Given the description of an element on the screen output the (x, y) to click on. 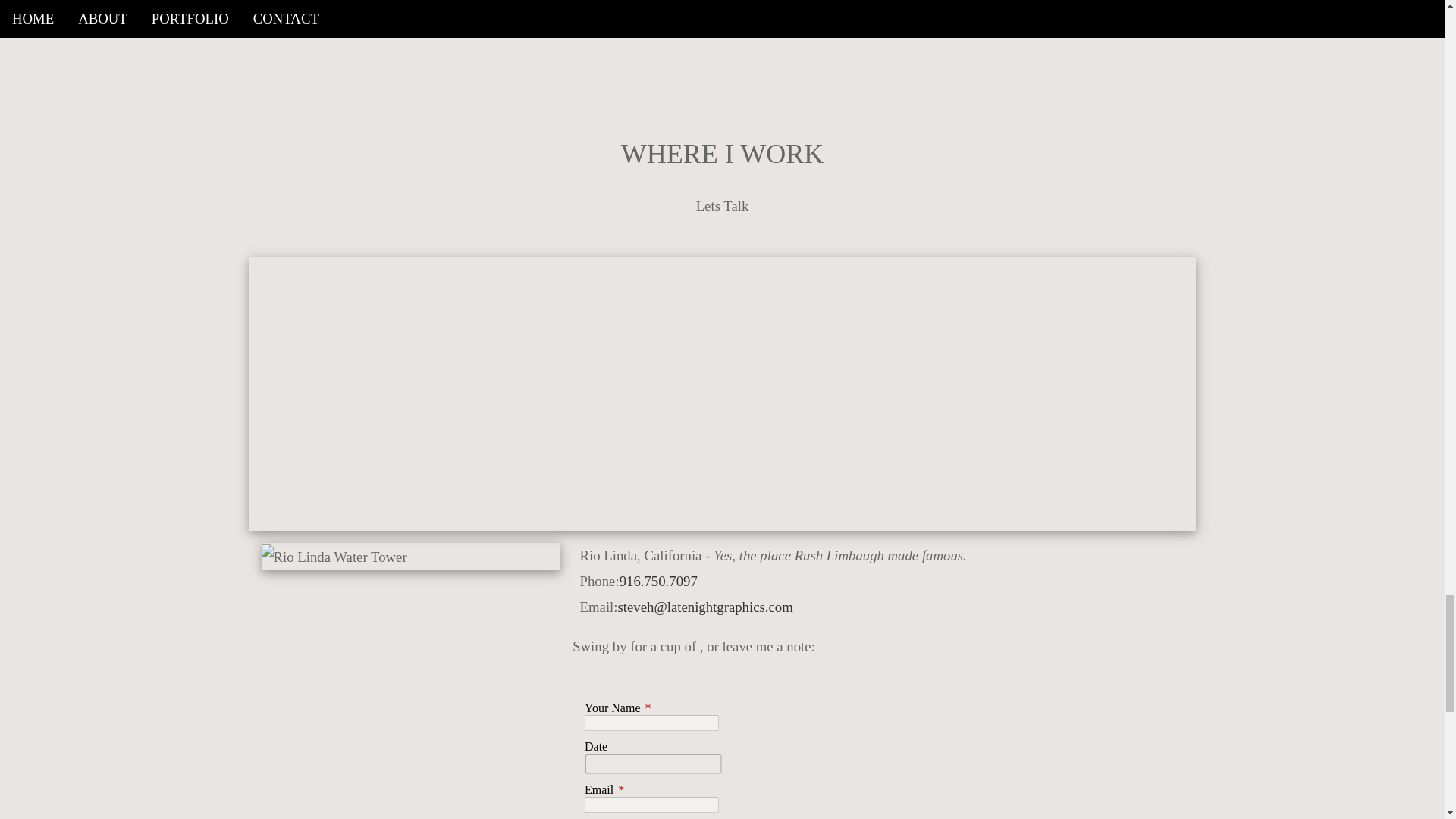
916.750.7097 (658, 580)
